Given the description of an element on the screen output the (x, y) to click on. 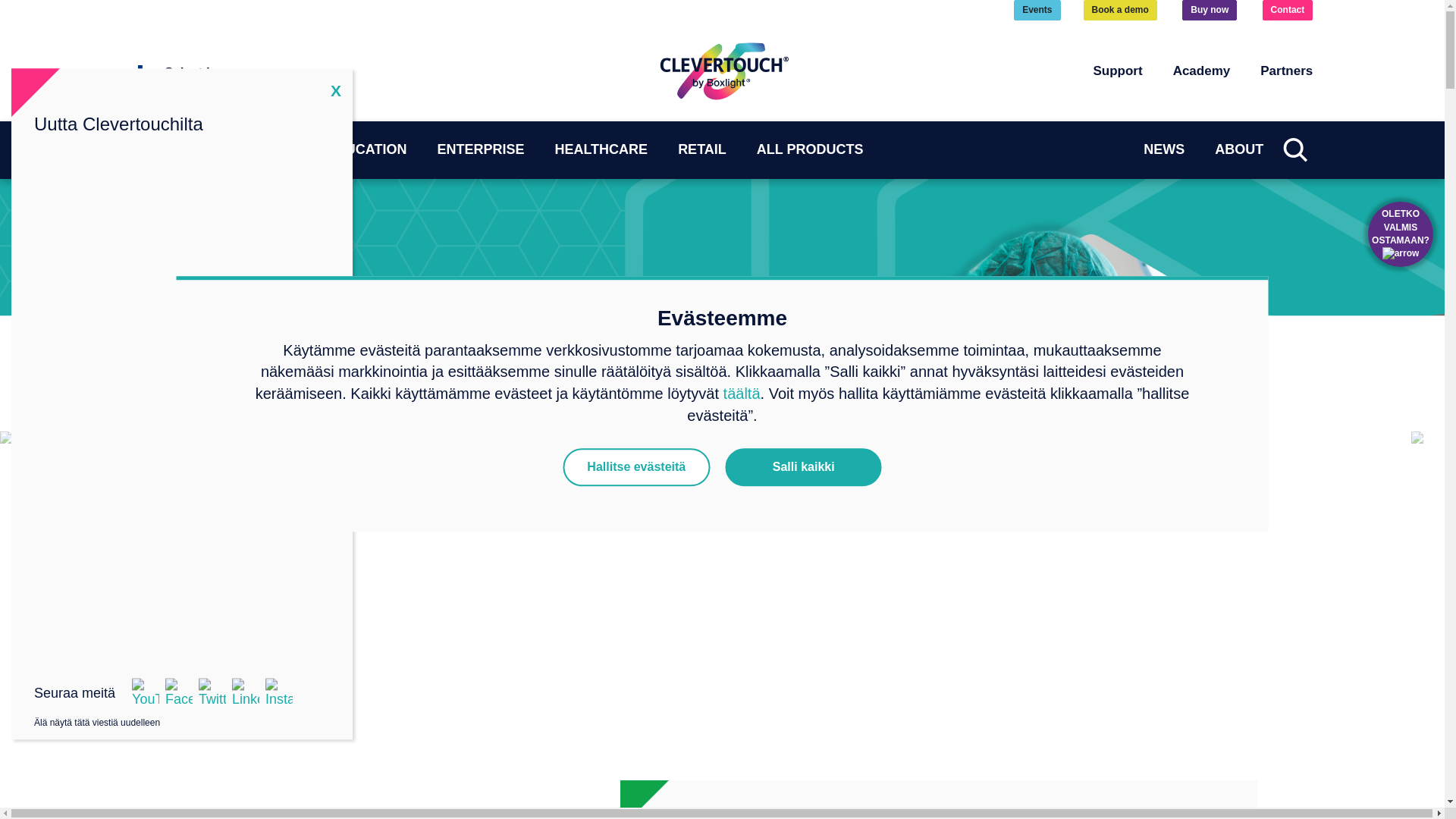
Support (1117, 70)
Partners (1286, 70)
Buy now (1209, 10)
Events (1036, 10)
Academy (1201, 70)
Contact (1287, 10)
Book a demo (1120, 10)
EDUCATION (193, 150)
